Given the description of an element on the screen output the (x, y) to click on. 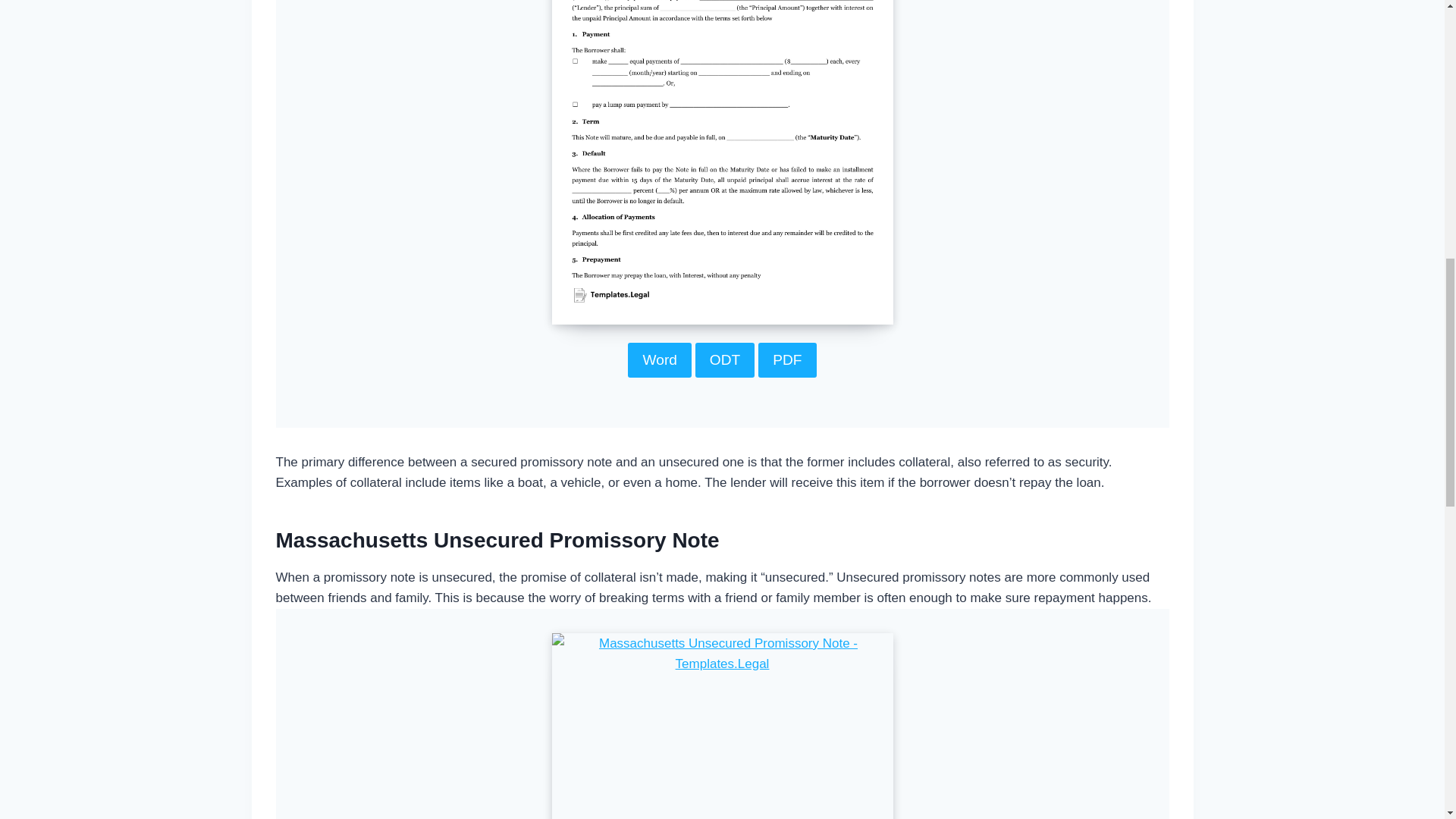
PDF (786, 360)
Word (659, 360)
ODT (725, 360)
